Given the description of an element on the screen output the (x, y) to click on. 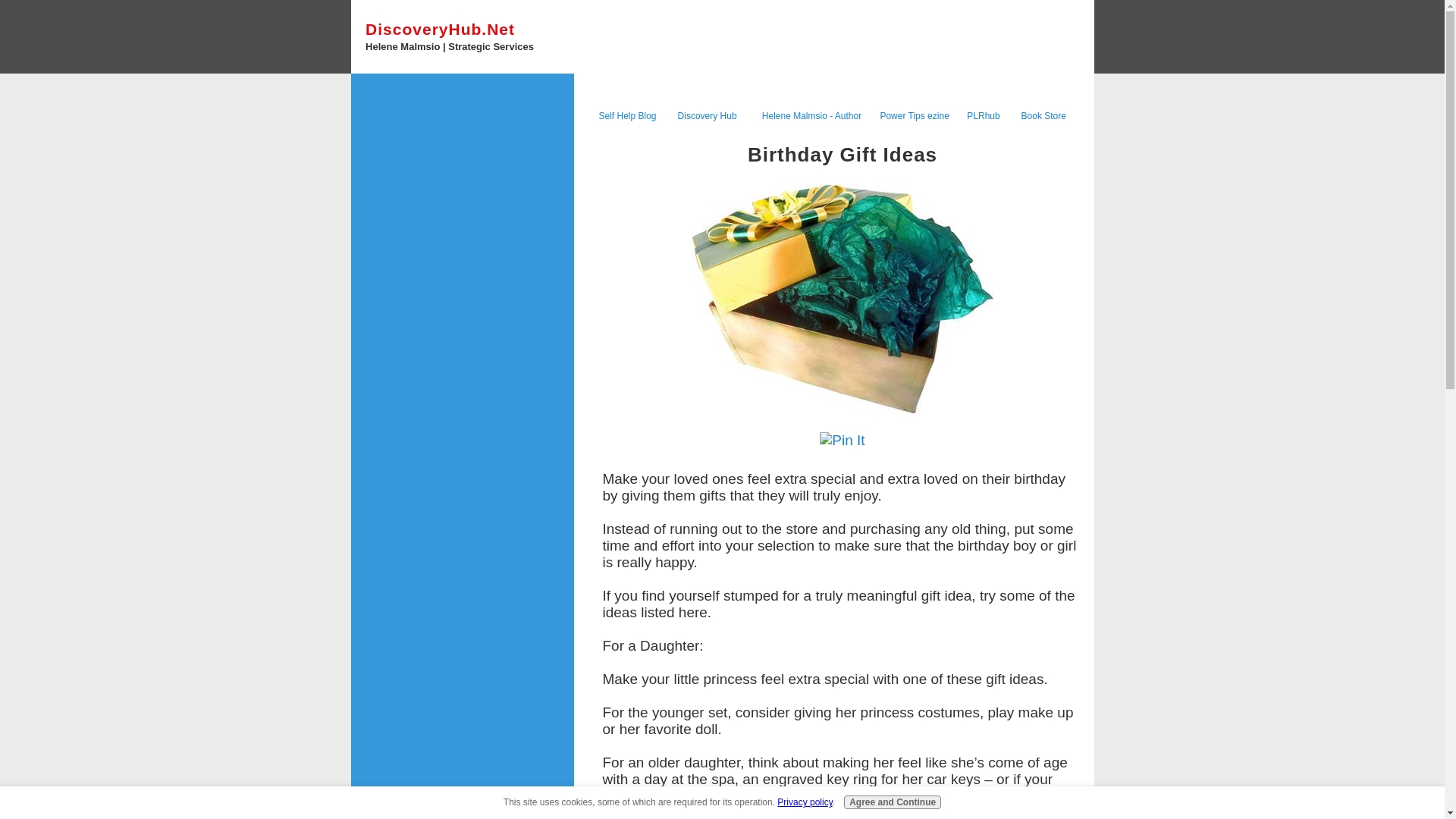
Power Tips ezine (914, 115)
DiscoveryHub.Net (440, 28)
Pin It (841, 440)
Agree and Continue (892, 802)
Privacy policy (804, 801)
Helene Malmsio - Author (811, 115)
Self Help Blog (627, 114)
Book Store (1043, 115)
PLRhub (982, 115)
Discovery Hub (707, 115)
